Given the description of an element on the screen output the (x, y) to click on. 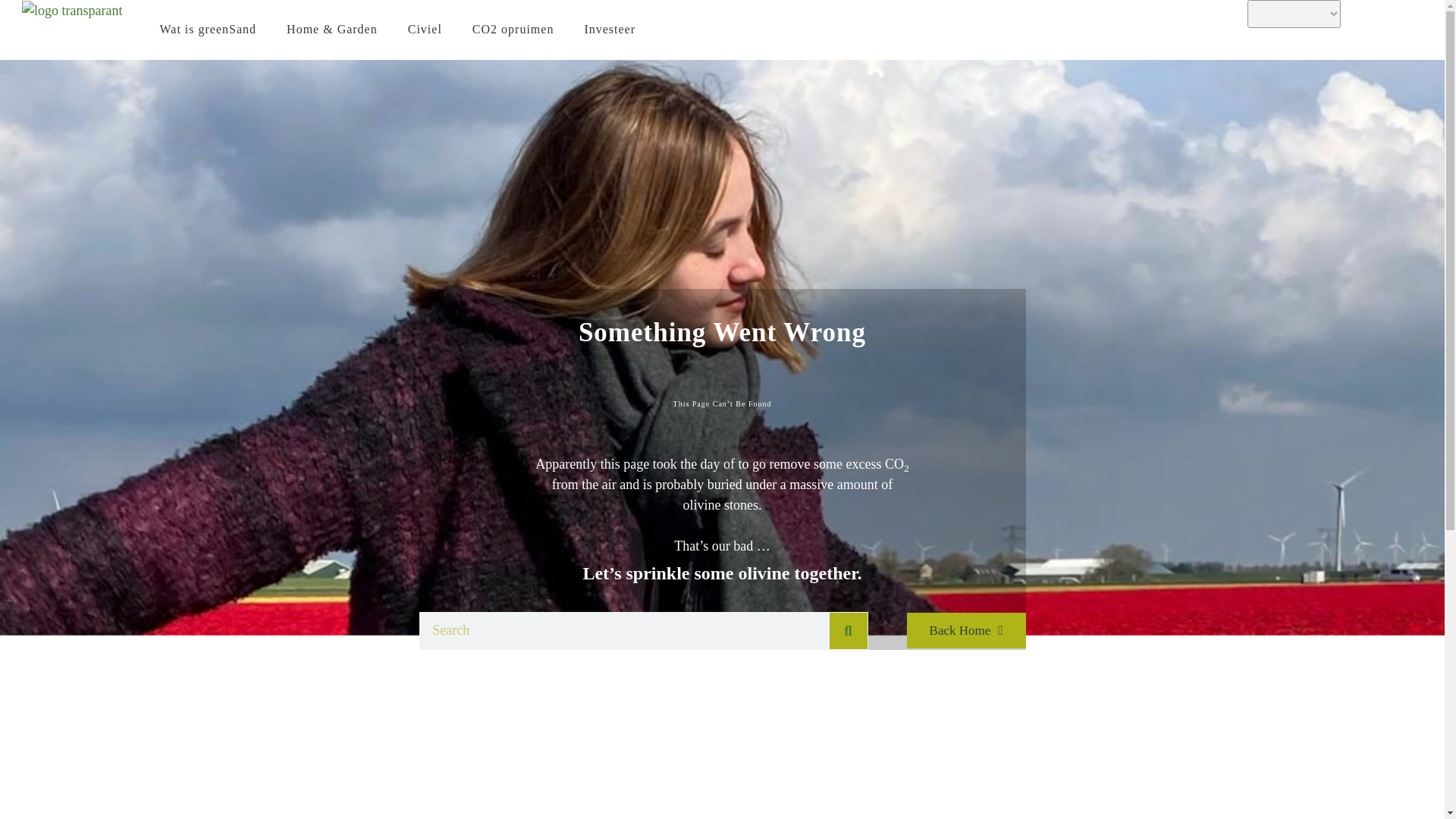
Civiel (425, 29)
Investeer (609, 29)
logo transparant (71, 10)
Wat is greenSand (207, 29)
CO2 opruimen (513, 29)
